Given the description of an element on the screen output the (x, y) to click on. 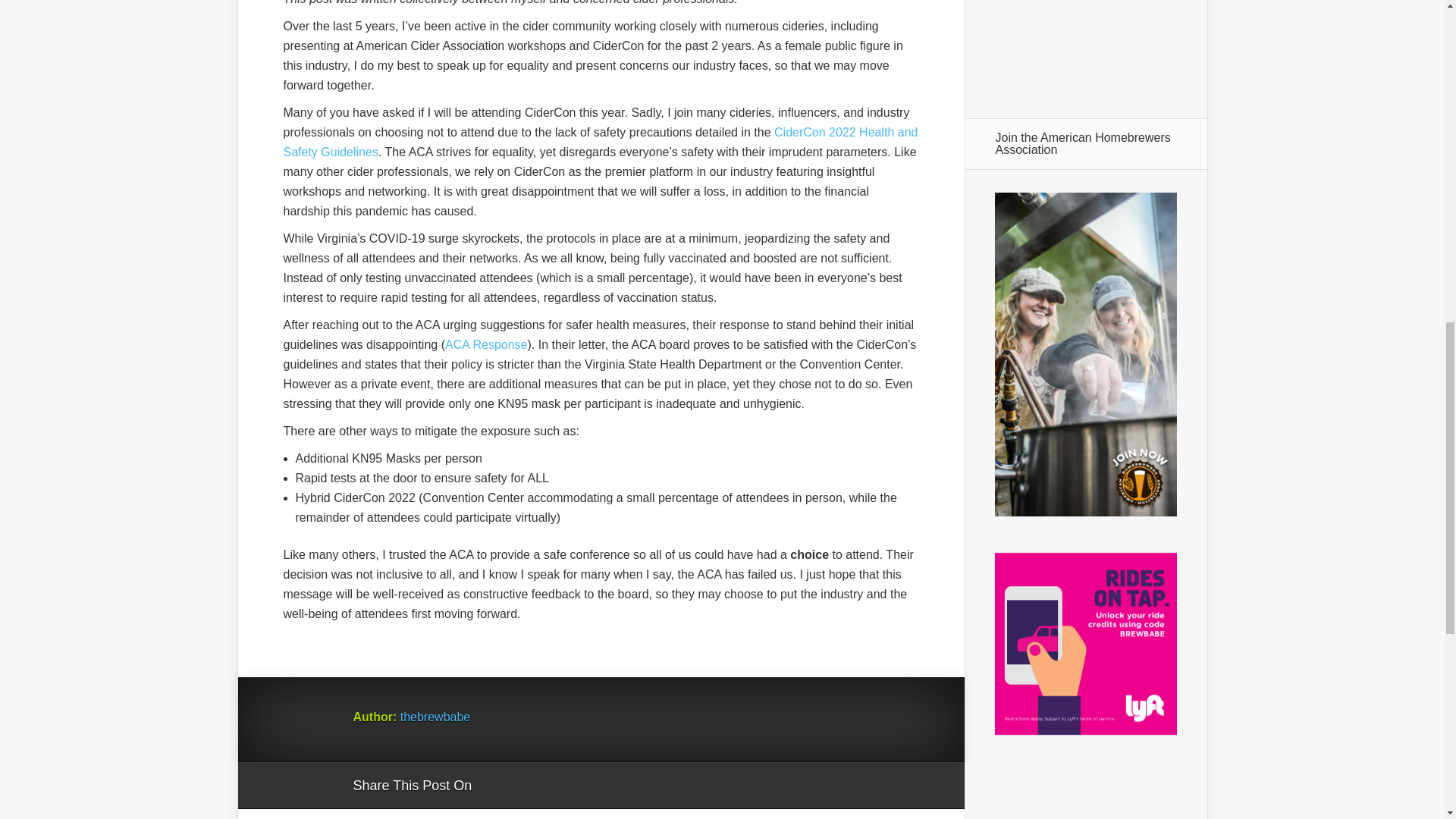
Google (498, 785)
ACA Response (486, 344)
thebrewbabe (435, 716)
Facebook (526, 785)
Twitter (555, 785)
CiderCon 2022 Health and Safety Guidelines (600, 142)
